Given the description of an element on the screen output the (x, y) to click on. 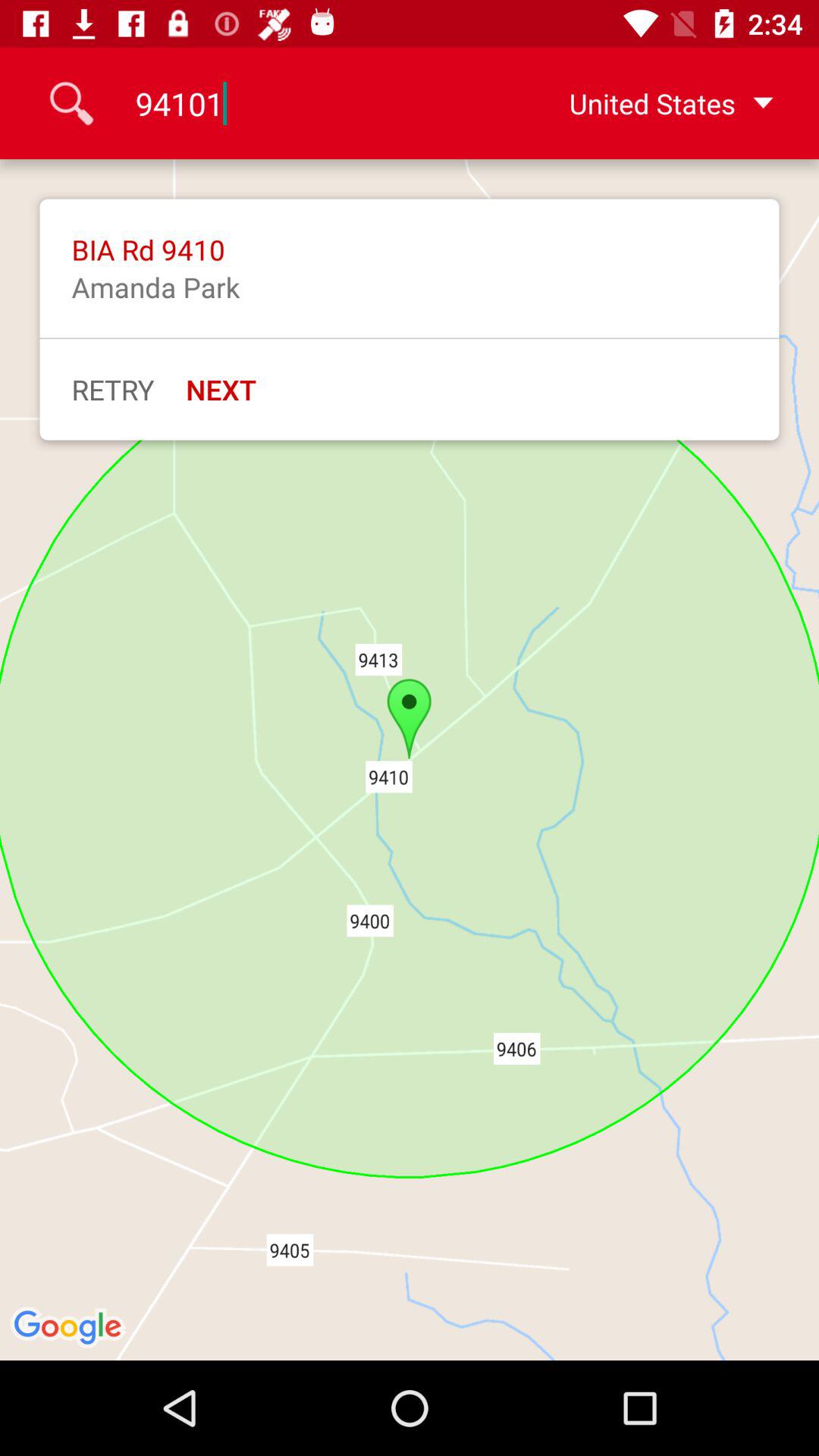
choose the next item (220, 389)
